Given the description of an element on the screen output the (x, y) to click on. 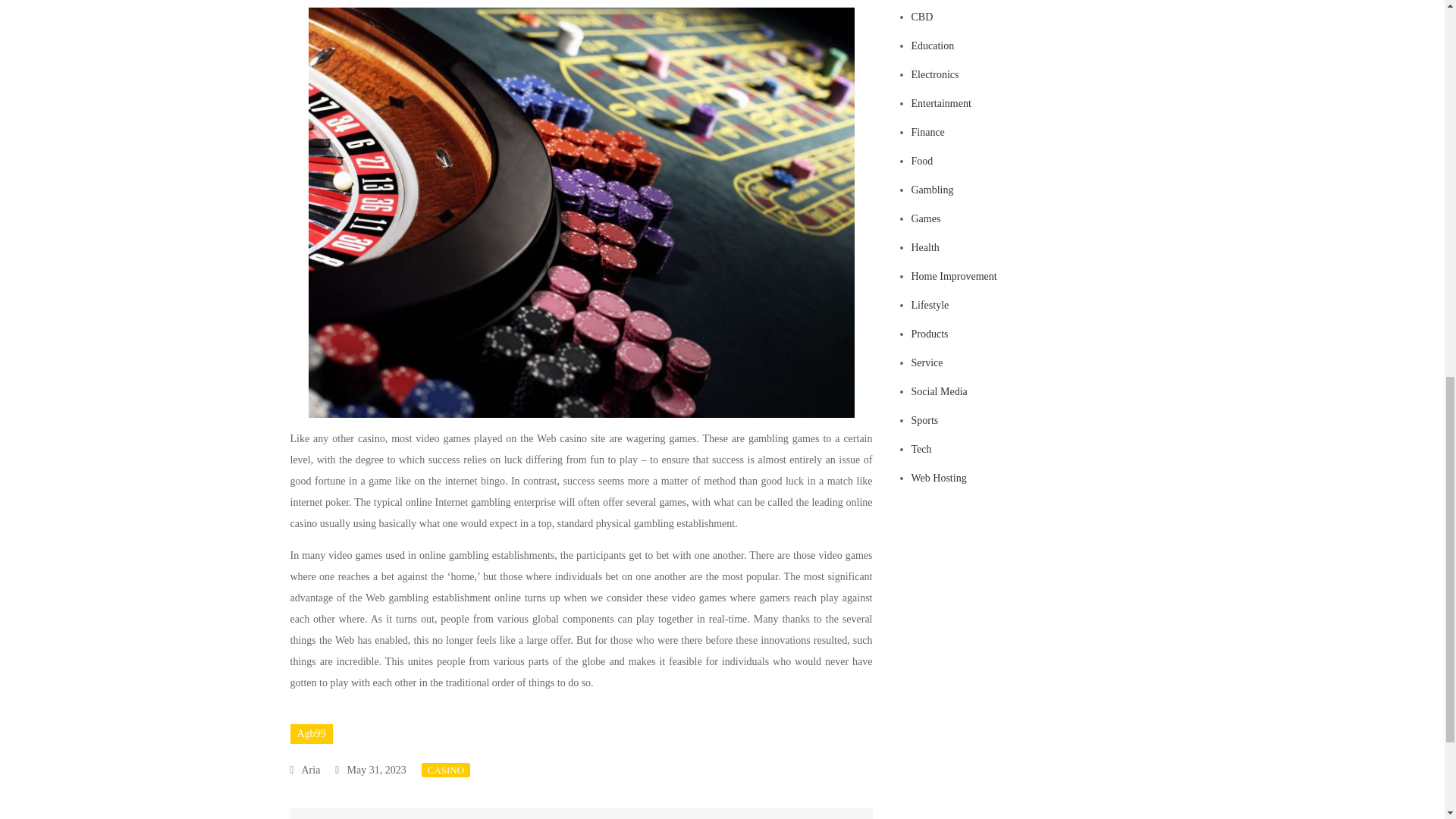
Aria (304, 769)
Education (933, 45)
Finance (927, 132)
Electronics (935, 74)
Entertainment (941, 102)
May 31, 2023 (370, 769)
CBD (922, 16)
CASINO (446, 769)
Agb99 (310, 732)
